Given the description of an element on the screen output the (x, y) to click on. 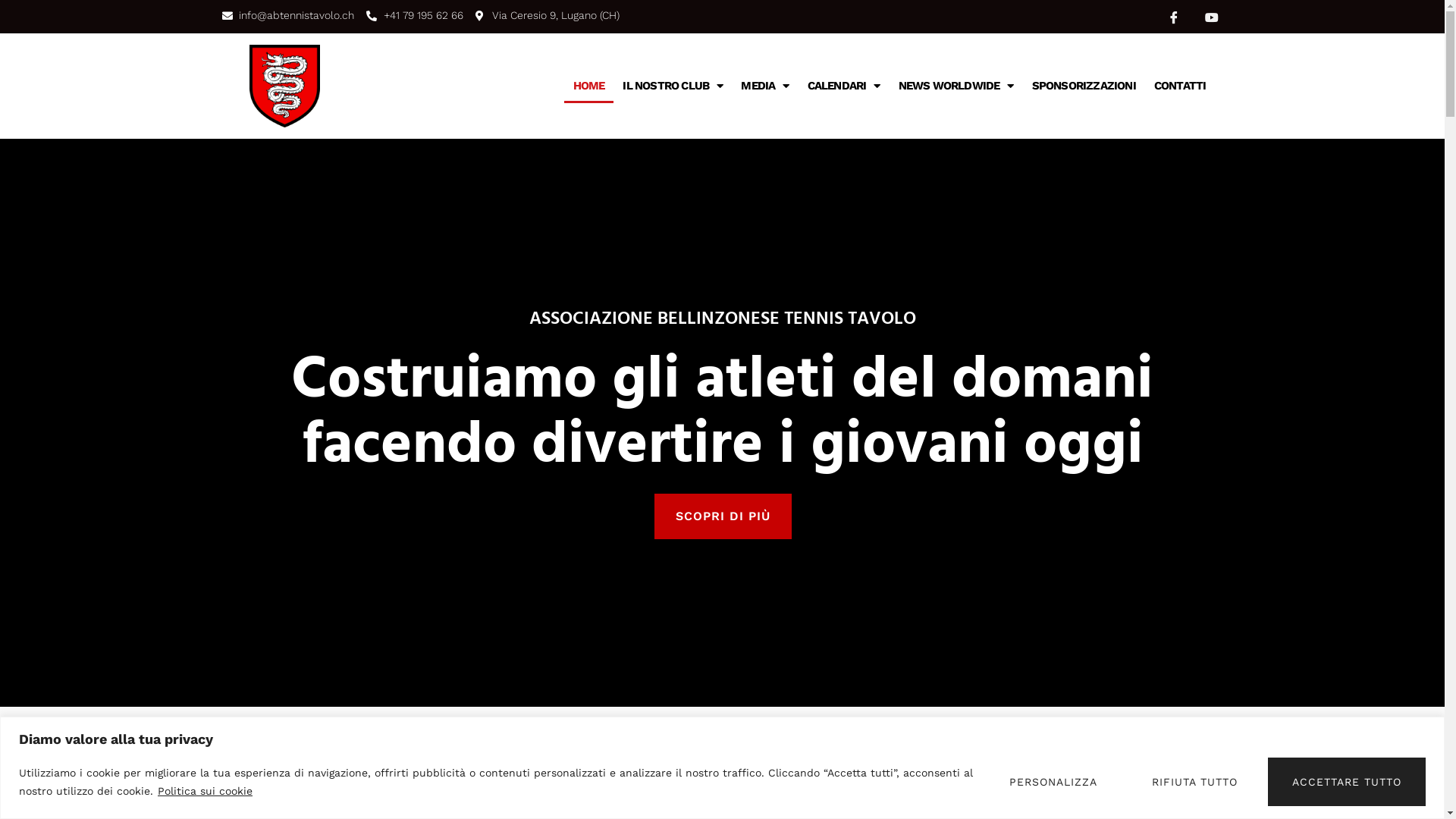
CALENDARI Element type: text (843, 85)
Via Ceresio 9, Lugano (CH) Element type: text (546, 15)
SPONSORIZZAZIONI Element type: text (1083, 85)
+41 79 195 62 66 Element type: text (414, 15)
HOME Element type: text (589, 85)
PERSONALIZZA Element type: text (1053, 780)
Politica sui cookie Element type: text (204, 790)
ACCETTARE TUTTO Element type: text (1346, 780)
CONTATTI Element type: text (1180, 85)
IL NOSTRO CLUB Element type: text (672, 85)
info@abtennistavolo.ch Element type: text (287, 15)
NEWS WORLDWIDE Element type: text (955, 85)
MEDIA Element type: text (764, 85)
RIFIUTA TUTTO Element type: text (1194, 780)
